Given the description of an element on the screen output the (x, y) to click on. 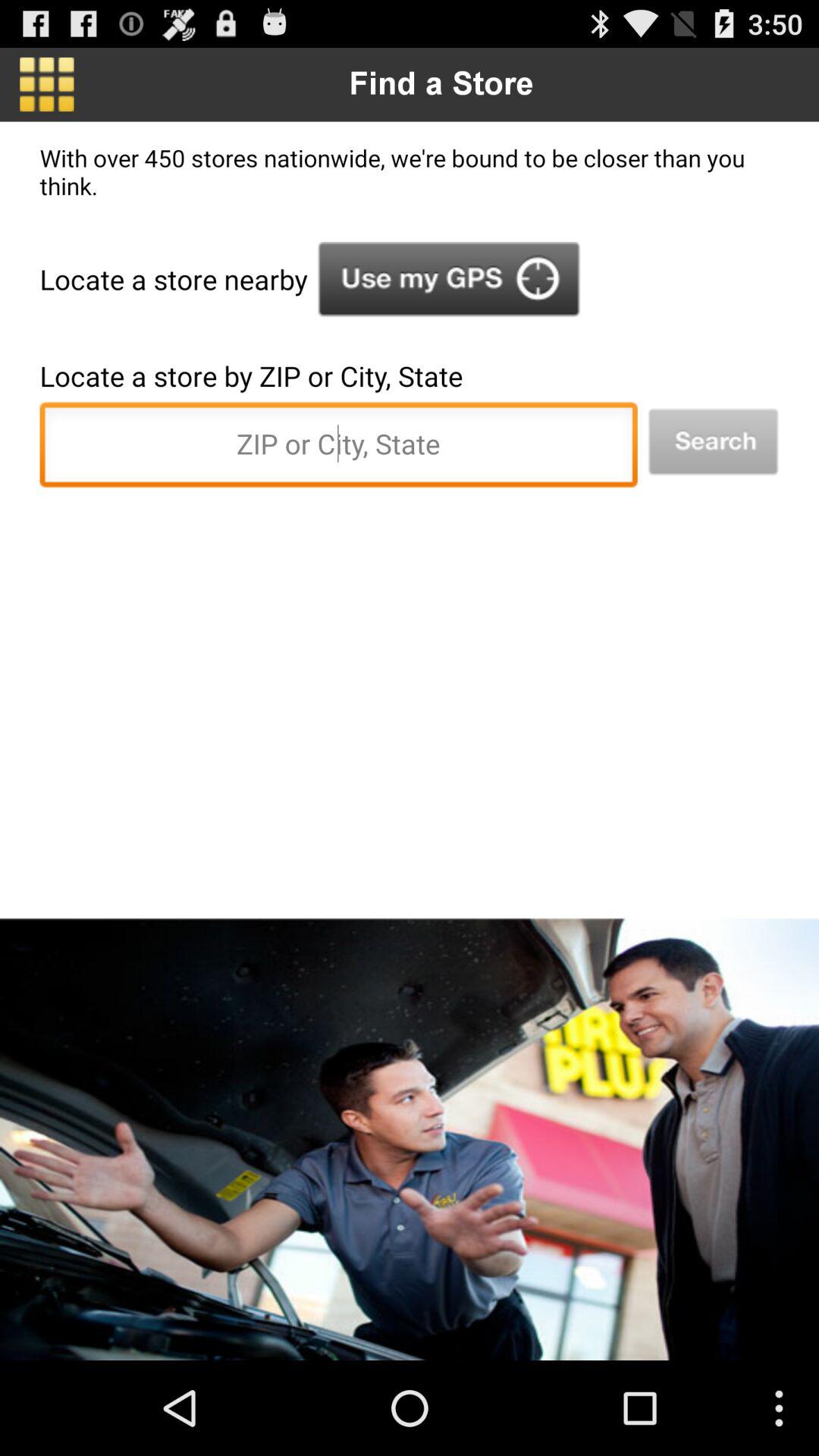
tap the app below the with over 450 icon (448, 279)
